Given the description of an element on the screen output the (x, y) to click on. 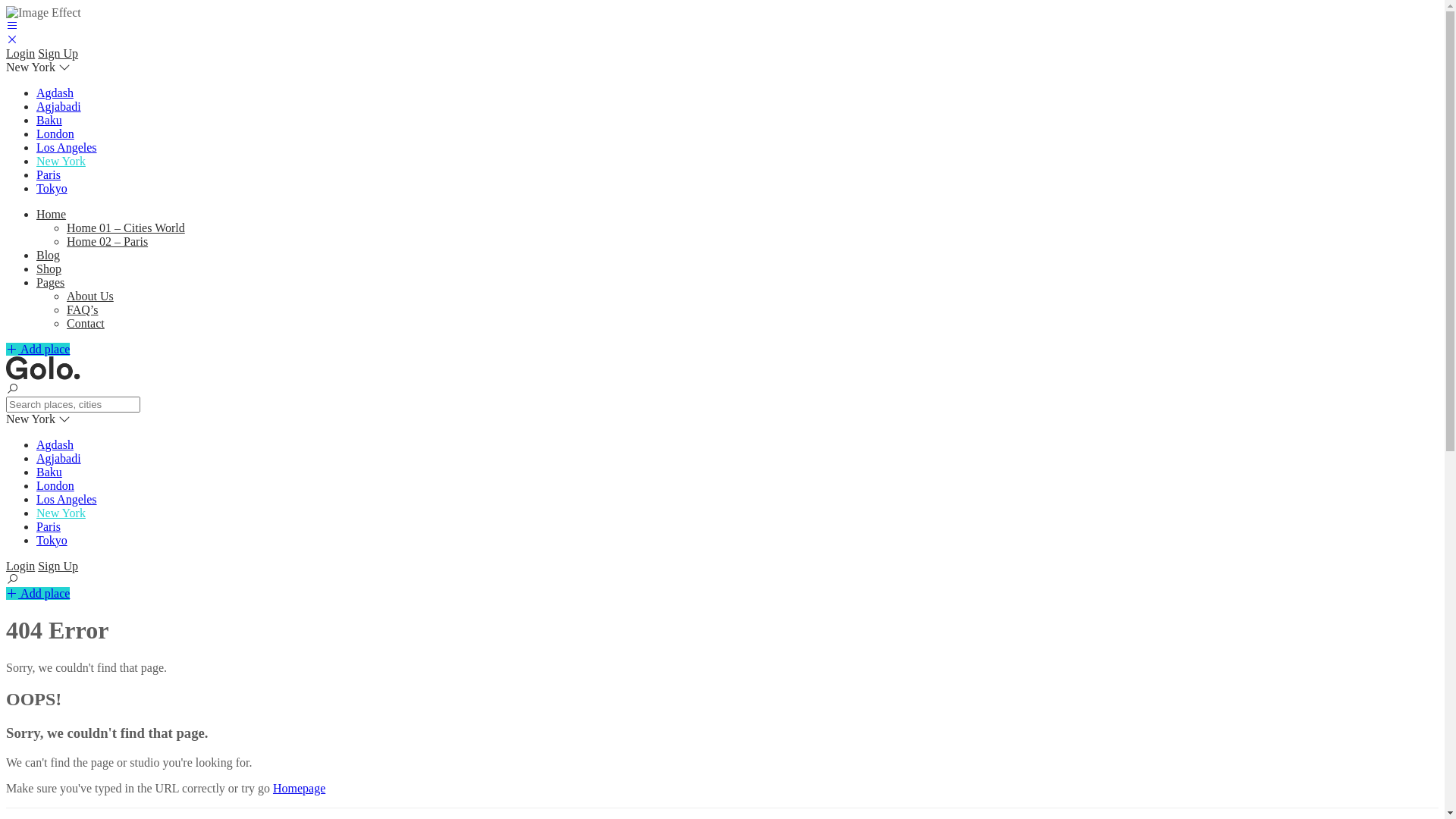
Los Angeles Element type: text (66, 498)
Home Element type: text (50, 213)
Tokyo Element type: text (51, 539)
Baku Element type: text (49, 471)
Baku Element type: text (49, 119)
London Element type: text (55, 133)
Blog Element type: text (47, 254)
London Element type: text (55, 485)
Agdash Element type: text (54, 444)
Sign Up Element type: text (57, 53)
Contact Element type: text (85, 322)
New York Element type: text (60, 512)
Login Element type: text (20, 53)
Los Angeles Element type: text (66, 147)
Sign Up Element type: text (57, 565)
Shop Element type: text (48, 268)
Agjabadi Element type: text (58, 106)
Agdash Element type: text (54, 92)
Login Element type: text (20, 565)
Agjabadi Element type: text (58, 457)
Pages Element type: text (50, 282)
Tokyo Element type: text (51, 188)
New York Element type: text (60, 160)
Paris Element type: text (48, 526)
Paris Element type: text (48, 174)
About Us Element type: text (89, 295)
Add place Element type: text (37, 592)
Add place Element type: text (37, 348)
Homepage Element type: text (299, 787)
Tourism in Azerbaijan Element type: hover (43, 375)
